Given the description of an element on the screen output the (x, y) to click on. 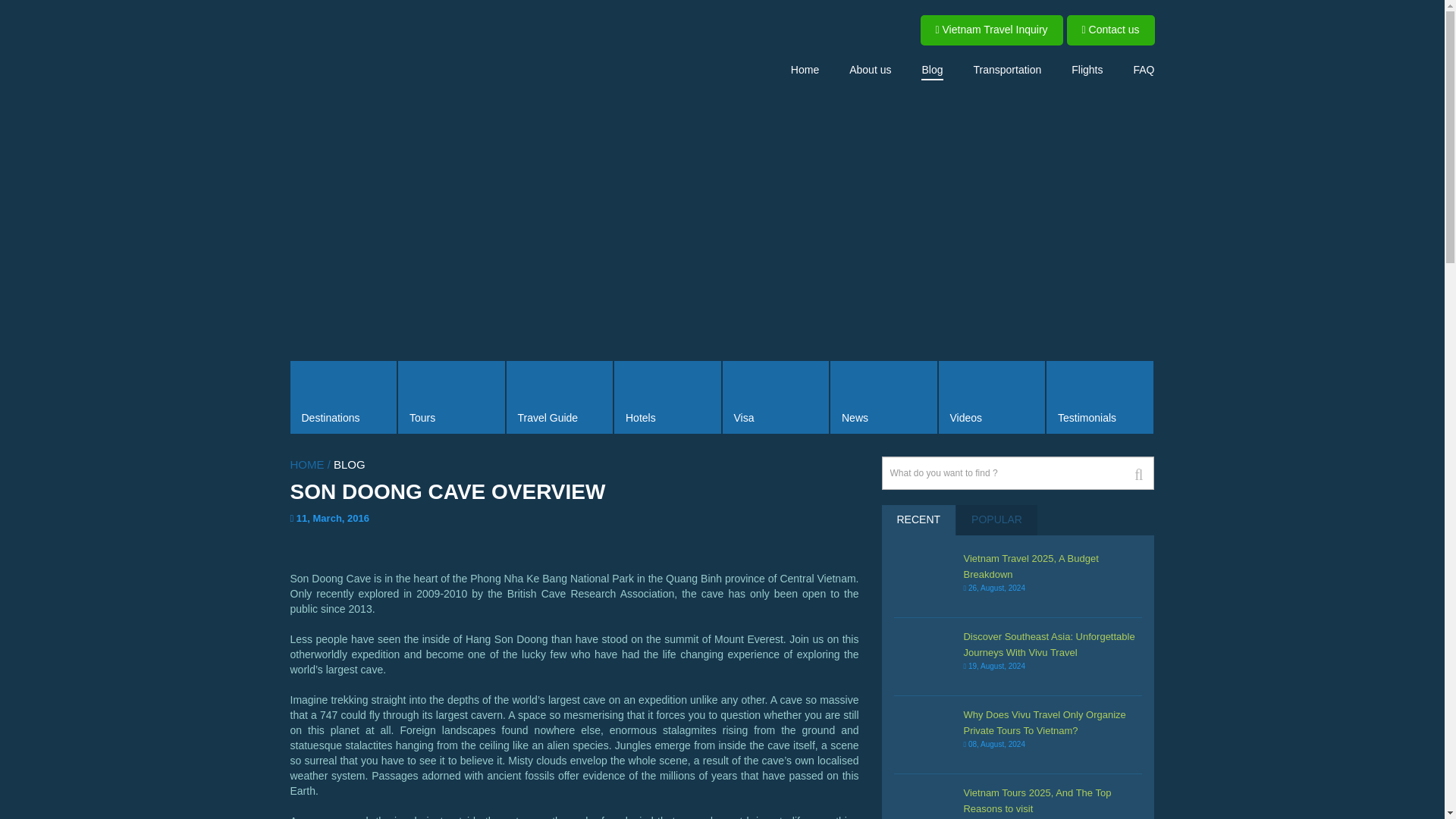
Transportation (1008, 69)
Travel Guide (559, 397)
Vietnam Travel Inquiry (991, 30)
FAQ (1143, 69)
Flights (1086, 69)
Visa (775, 397)
Home (804, 69)
News (883, 397)
About us (869, 69)
Blog (931, 70)
